Given the description of an element on the screen output the (x, y) to click on. 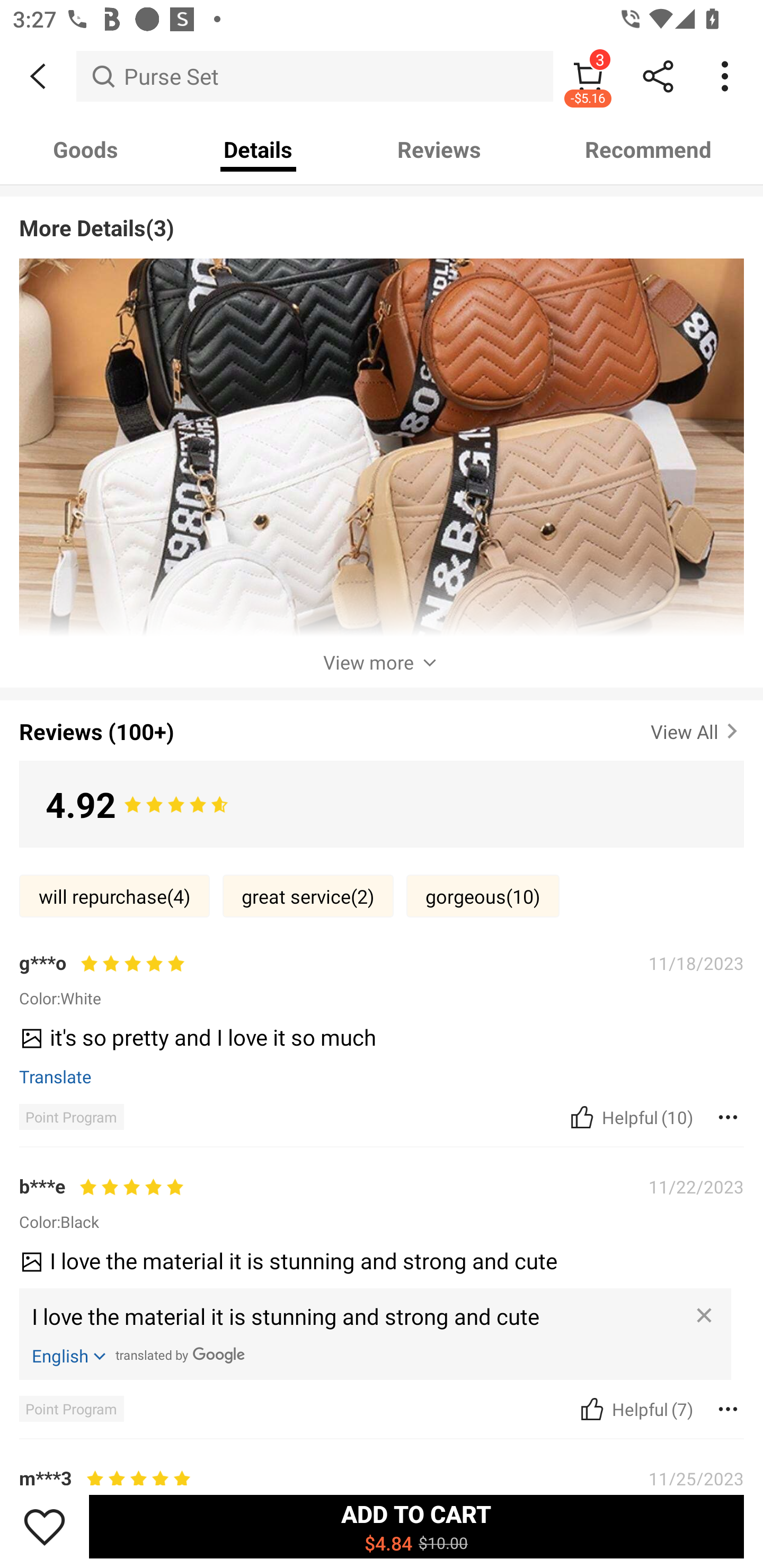
BACK (38, 75)
3 -$5.16 (588, 75)
Purse Set (314, 75)
Goods (85, 149)
Details (257, 149)
Reviews (439, 149)
Recommend (648, 149)
View more (381, 662)
Reviews‎ (100‎+) View All 4.92 Average rating4.92 (381, 770)
will repurchase(4) (114, 895)
great service(2) (307, 895)
gorgeous(10) (482, 895)
g***o Rating5.0 11/18/2023 Color:White (381, 978)
  it's so pretty and I love it so much (374, 1043)
Translate (55, 1076)
Cancel Helpful Was this article helpful? (10) (629, 1117)
Point Program (71, 1116)
b***e Rating5.0 11/22/2023 Color:Black (381, 1202)
English Translate to... (70, 1355)
Cancel Helpful Was this article helpful? (7) (634, 1409)
Point Program (71, 1408)
m***3 Rating5.0 11/25/2023 (381, 1474)
ADD TO CART $4.84 $10.00 (416, 1526)
Save (44, 1526)
